Given the description of an element on the screen output the (x, y) to click on. 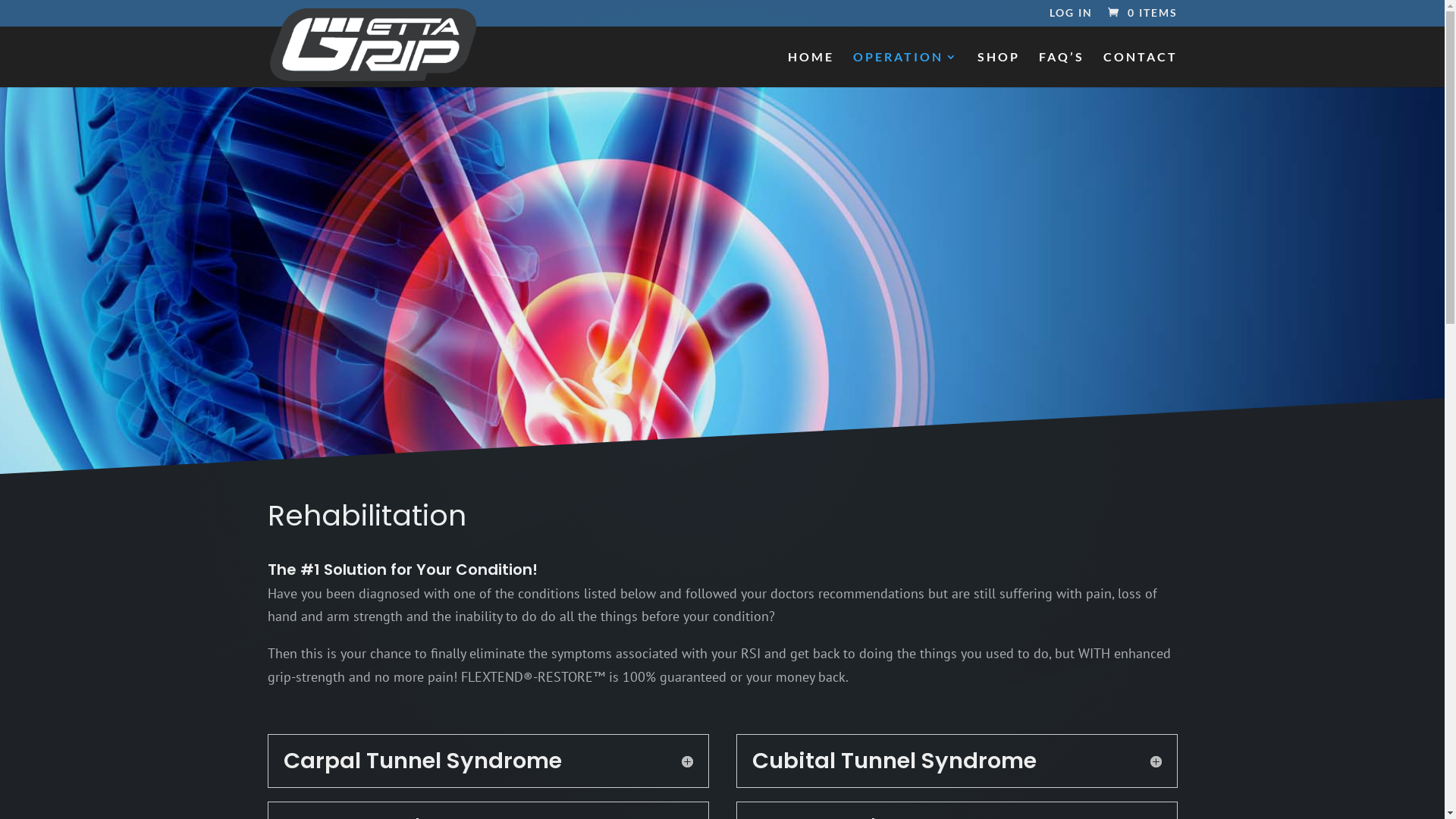
SHOP Element type: text (997, 69)
LOG IN Element type: text (1070, 16)
HOME Element type: text (810, 69)
0 ITEMS Element type: text (1140, 12)
OPERATION Element type: text (904, 69)
CONTACT Element type: text (1139, 69)
